Given the description of an element on the screen output the (x, y) to click on. 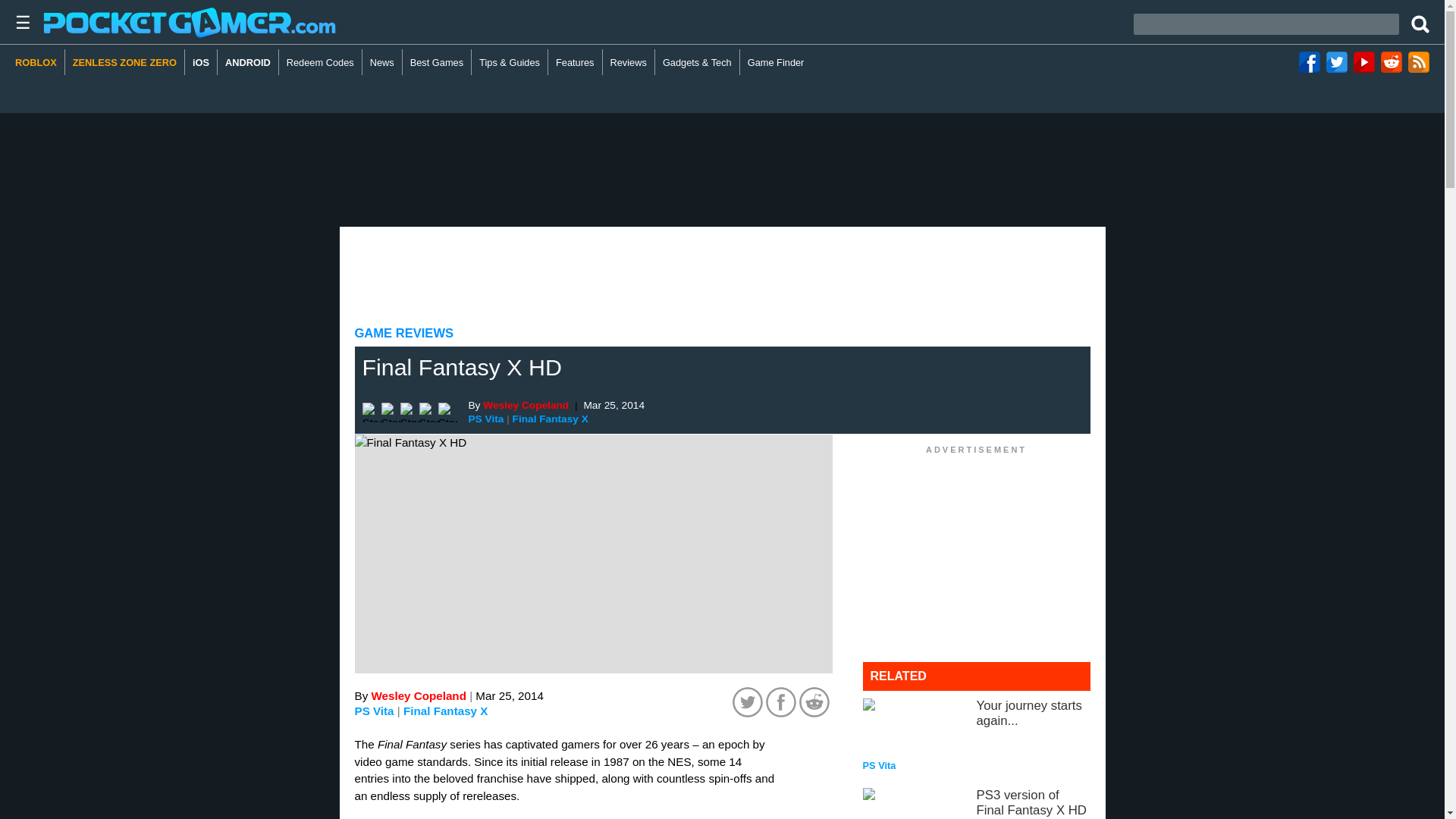
ZENLESS ZONE ZERO (124, 62)
GAME REVIEWS (404, 332)
Game Finder (775, 62)
Redeem Codes (320, 62)
Reviews (628, 62)
Final Fantasy X (550, 418)
PS Vita (485, 419)
ANDROID (247, 62)
Wesley Copeland (418, 695)
